Given the description of an element on the screen output the (x, y) to click on. 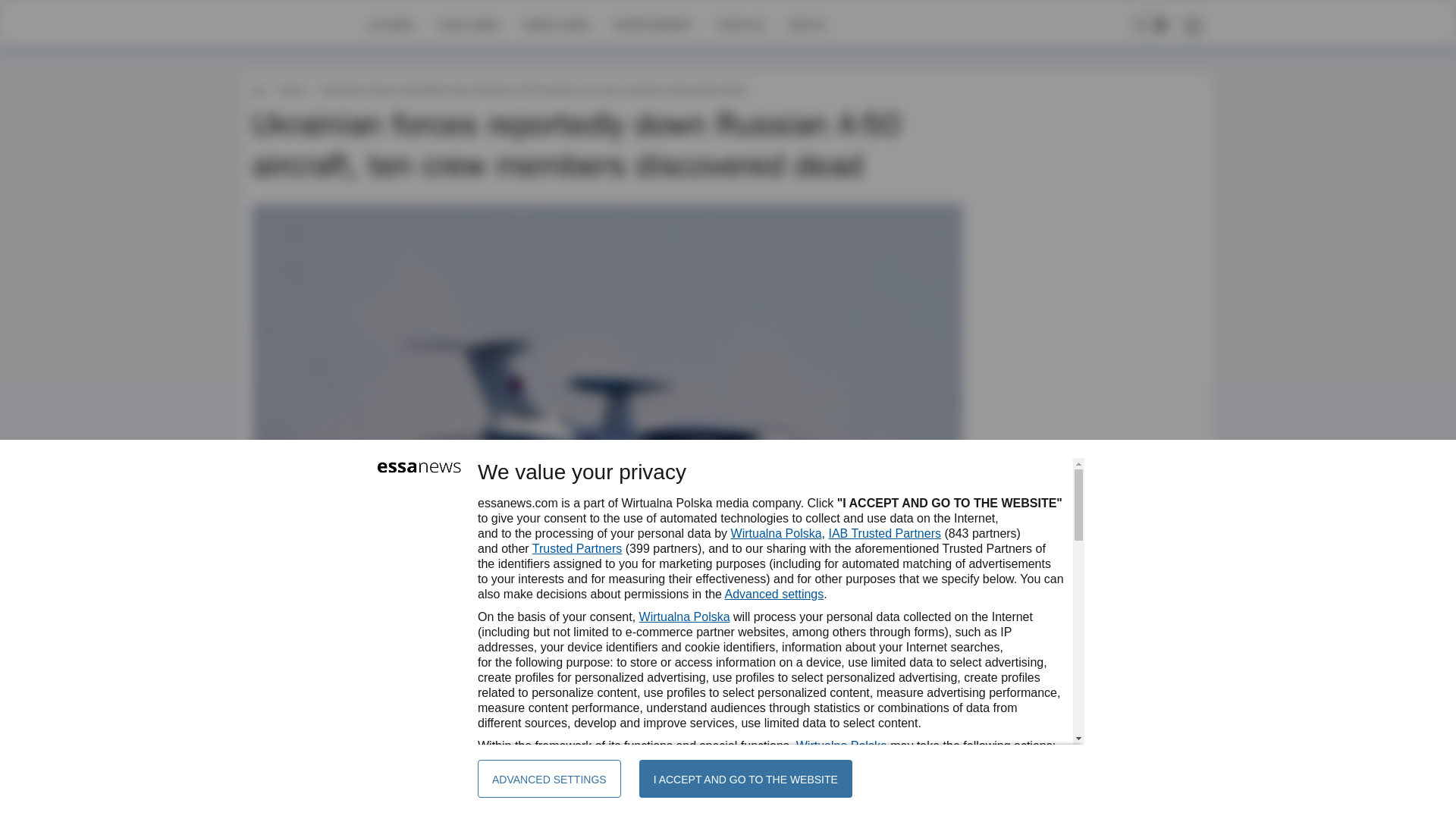
HEALTH (807, 24)
PAB (298, 641)
Homepage (305, 24)
US NEWS (390, 24)
News (291, 89)
LIFESTYLE (740, 24)
LOCAL NEWS (468, 24)
ENTERTAINMENT (652, 24)
News (291, 89)
PAB (298, 641)
